Given the description of an element on the screen output the (x, y) to click on. 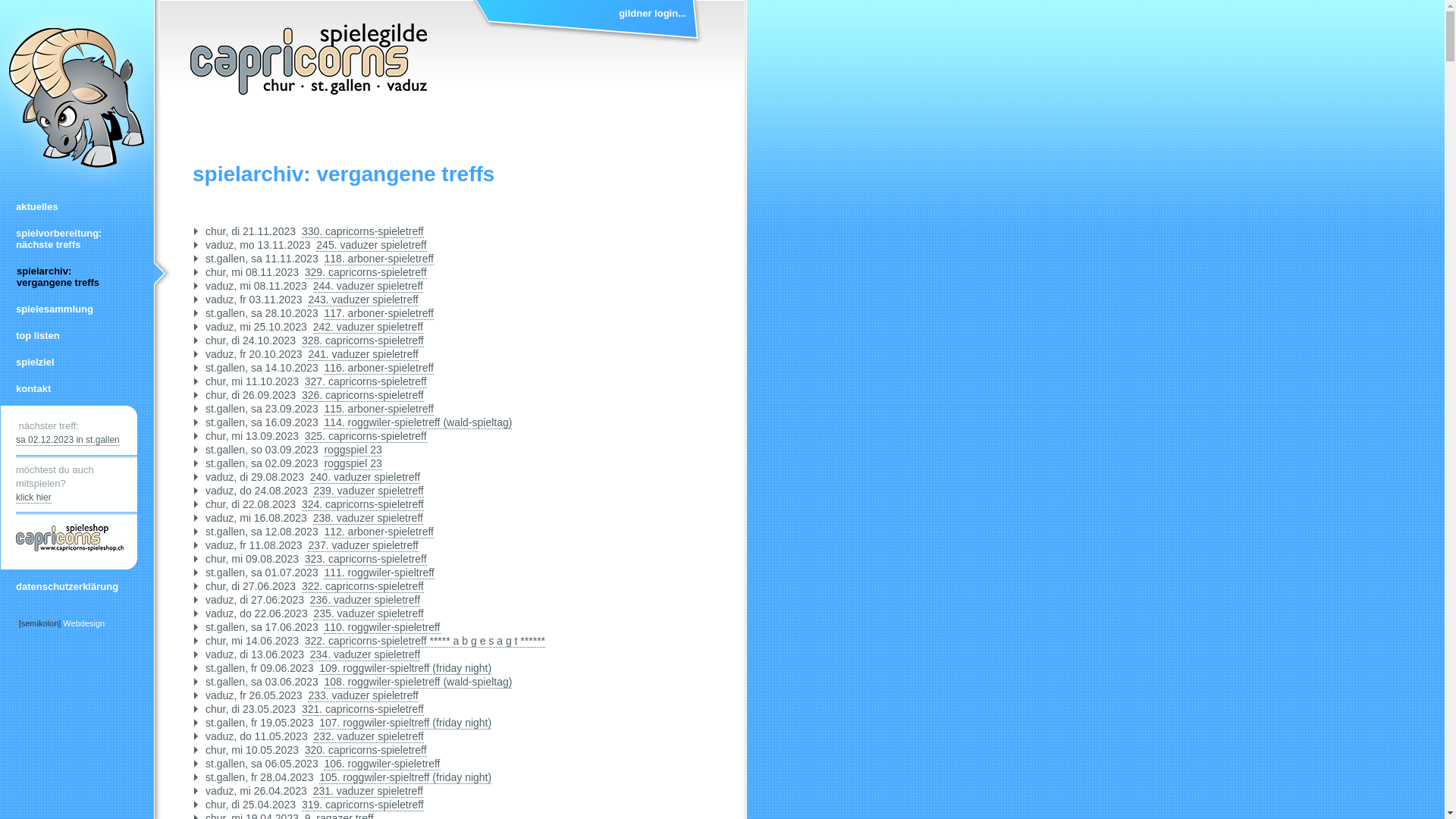
roggspiel 23 Element type: text (352, 449)
329. capricorns-spieletreff Element type: text (365, 272)
243. vaduzer spieletreff Element type: text (362, 299)
239. vaduzer spieletreff Element type: text (368, 490)
242. vaduzer spieletreff Element type: text (368, 326)
330. capricorns-spieletreff Element type: text (362, 231)
323. capricorns-spieletreff Element type: text (365, 558)
322. capricorns-spieletreff ***** a b g e s a g t ****** Element type: text (424, 640)
110. roggwiler-spieletreff Element type: text (381, 627)
114. roggwiler-spieletreff (wald-spieltag) Element type: text (417, 422)
top listen Element type: text (76, 335)
kontakt Element type: text (76, 388)
107. roggwiler-spieltreff (friday night) Element type: text (405, 722)
245. vaduzer spieletreff Element type: text (371, 244)
108. roggwiler-spieletreff (wald-spieltag) Element type: text (417, 681)
326. capricorns-spieletreff Element type: text (362, 395)
325. capricorns-spieletreff Element type: text (365, 435)
327. capricorns-spieletreff Element type: text (365, 381)
231. vaduzer spieletreff Element type: text (368, 790)
aktuelles Element type: text (76, 206)
232. vaduzer spieletreff Element type: text (368, 736)
spielesammlung Element type: text (76, 308)
244. vaduzer spieletreff Element type: text (368, 285)
324. capricorns-spieletreff Element type: text (362, 504)
spielarchiv:
vergangene treffs Element type: text (76, 276)
237. vaduzer spieletreff Element type: text (362, 545)
111. roggwiler-spieltreff Element type: text (378, 572)
klick hier Element type: text (33, 497)
235. vaduzer spieletreff Element type: text (368, 613)
116. arboner-spieletreff Element type: text (378, 367)
236. vaduzer spieletreff Element type: text (365, 599)
106. roggwiler-spieletreff Element type: text (381, 763)
109. roggwiler-spieltreff (friday night) Element type: text (405, 668)
gildner login... Element type: text (587, 22)
sa 02.12.2023 in st.gallen Element type: text (67, 439)
240. vaduzer spieletreff Element type: text (365, 476)
319. capricorns-spieletreff Element type: text (362, 804)
241. vaduzer spieletreff Element type: text (362, 354)
234. vaduzer spieletreff Element type: text (365, 654)
112. arboner-spieletreff Element type: text (378, 531)
233. vaduzer spieletreff Element type: text (362, 695)
;[semikolon] Webdesign Element type: text (59, 622)
118. arboner-spieletreff Element type: text (378, 258)
321. capricorns-spieletreff Element type: text (362, 708)
328. capricorns-spieletreff Element type: text (362, 340)
322. capricorns-spieletreff Element type: text (362, 586)
105. roggwiler-spieltreff (friday night) Element type: text (405, 777)
320. capricorns-spieletreff Element type: text (365, 749)
238. vaduzer spieletreff Element type: text (368, 517)
115. arboner-spieletreff Element type: text (378, 408)
117. arboner-spieletreff Element type: text (378, 313)
spielziel Element type: text (76, 361)
roggspiel 23 Element type: text (352, 463)
